Given the description of an element on the screen output the (x, y) to click on. 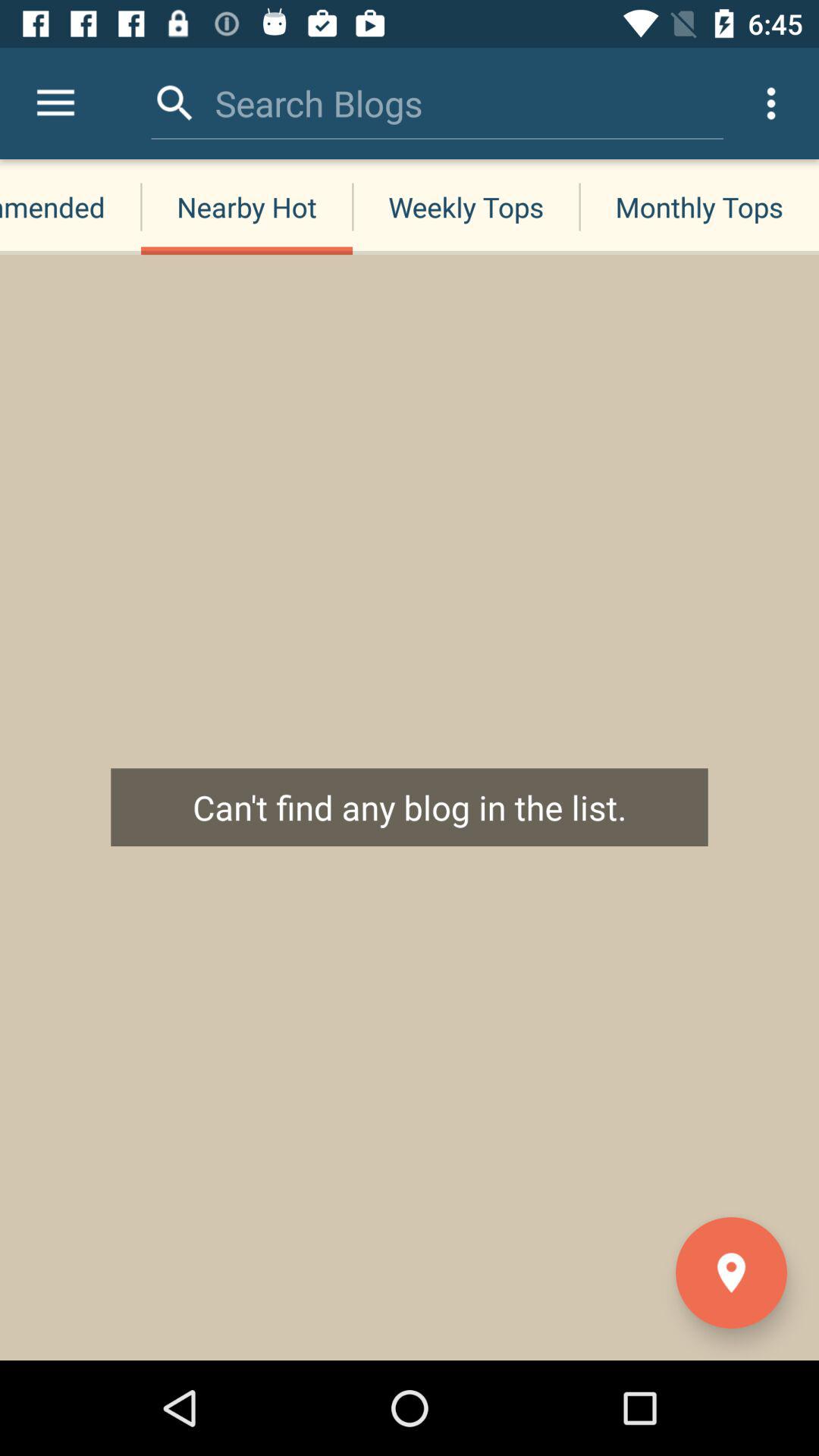
tap the search blogs (318, 103)
